Given the description of an element on the screen output the (x, y) to click on. 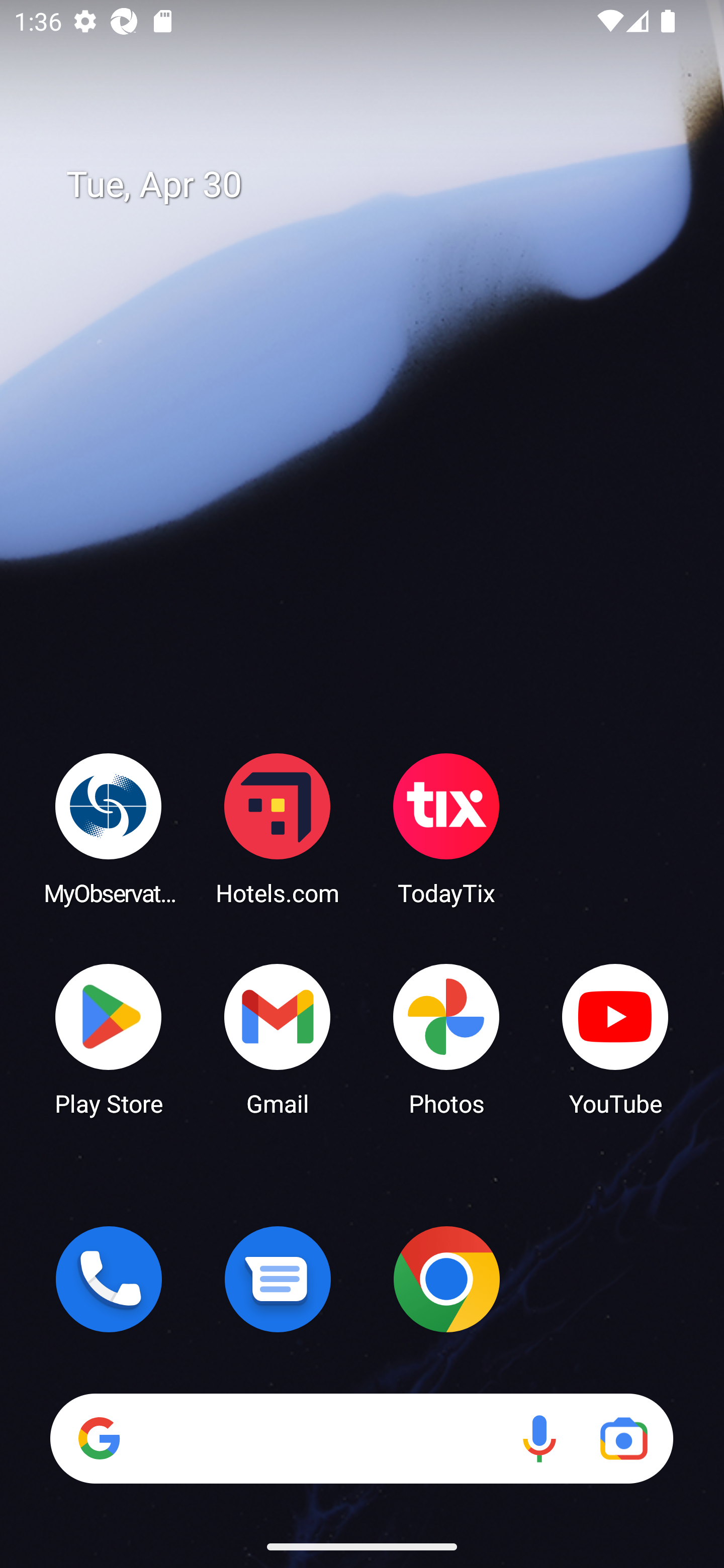
Tue, Apr 30 (375, 184)
MyObservatory (108, 828)
Hotels.com (277, 828)
TodayTix (445, 828)
Play Store (108, 1038)
Gmail (277, 1038)
Photos (445, 1038)
YouTube (615, 1038)
Phone (108, 1279)
Messages (277, 1279)
Chrome (446, 1279)
Voice search (539, 1438)
Google Lens (623, 1438)
